Given the description of an element on the screen output the (x, y) to click on. 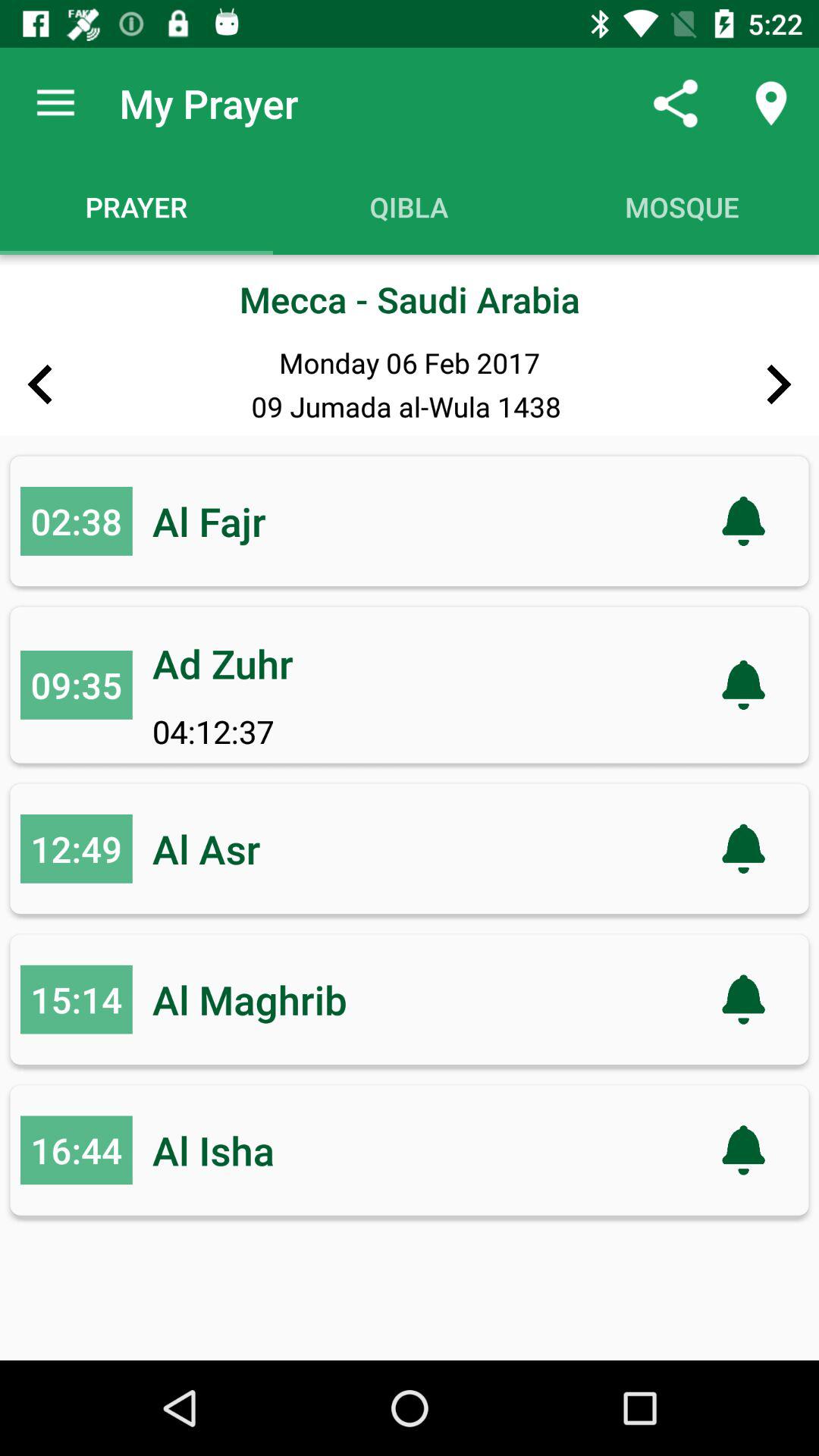
swipe to 02:38 item (76, 520)
